Given the description of an element on the screen output the (x, y) to click on. 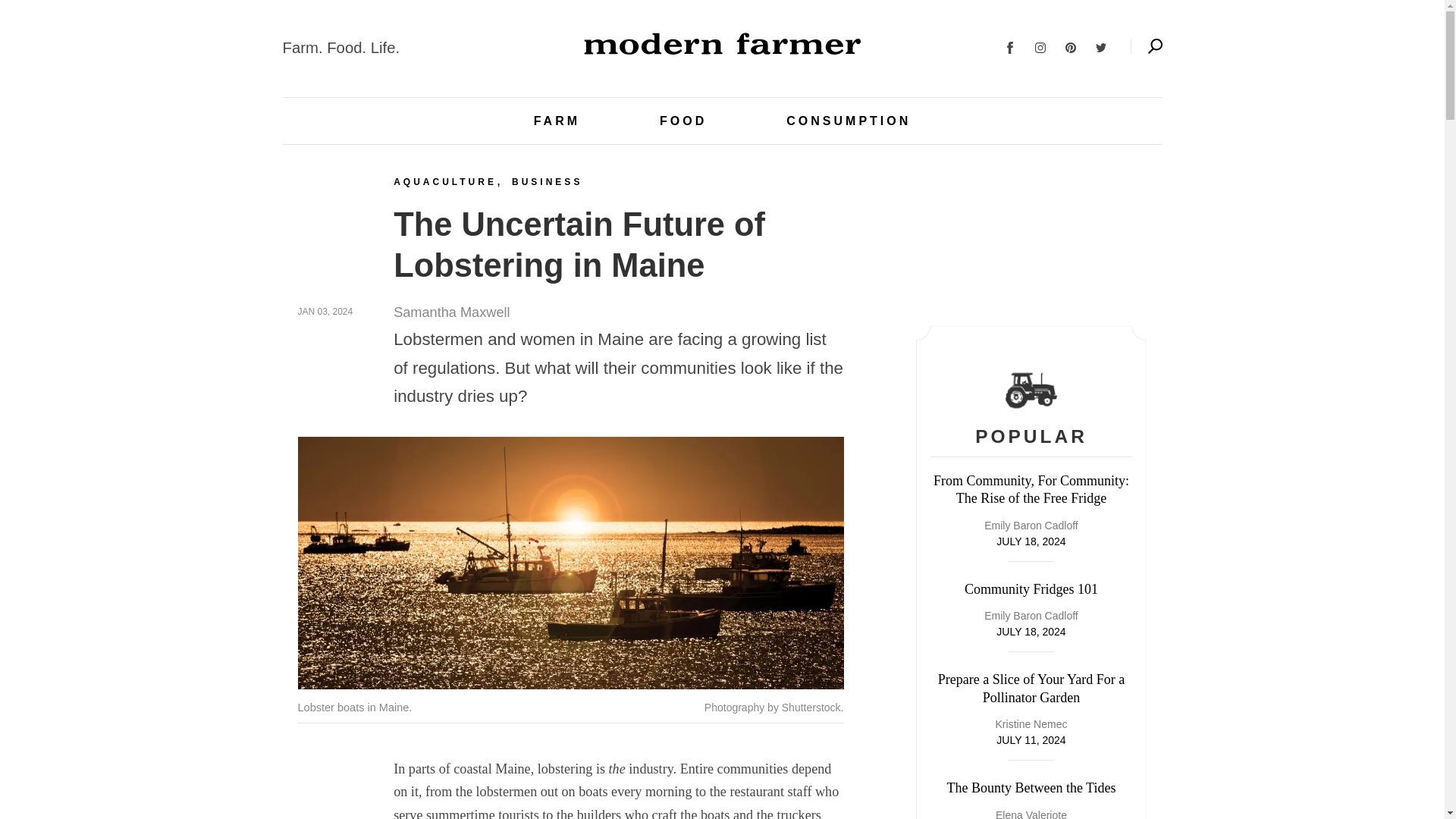
CONSUMPTION (848, 120)
FOOD (682, 120)
FARM (556, 120)
Modern Farmer (722, 42)
